Given the description of an element on the screen output the (x, y) to click on. 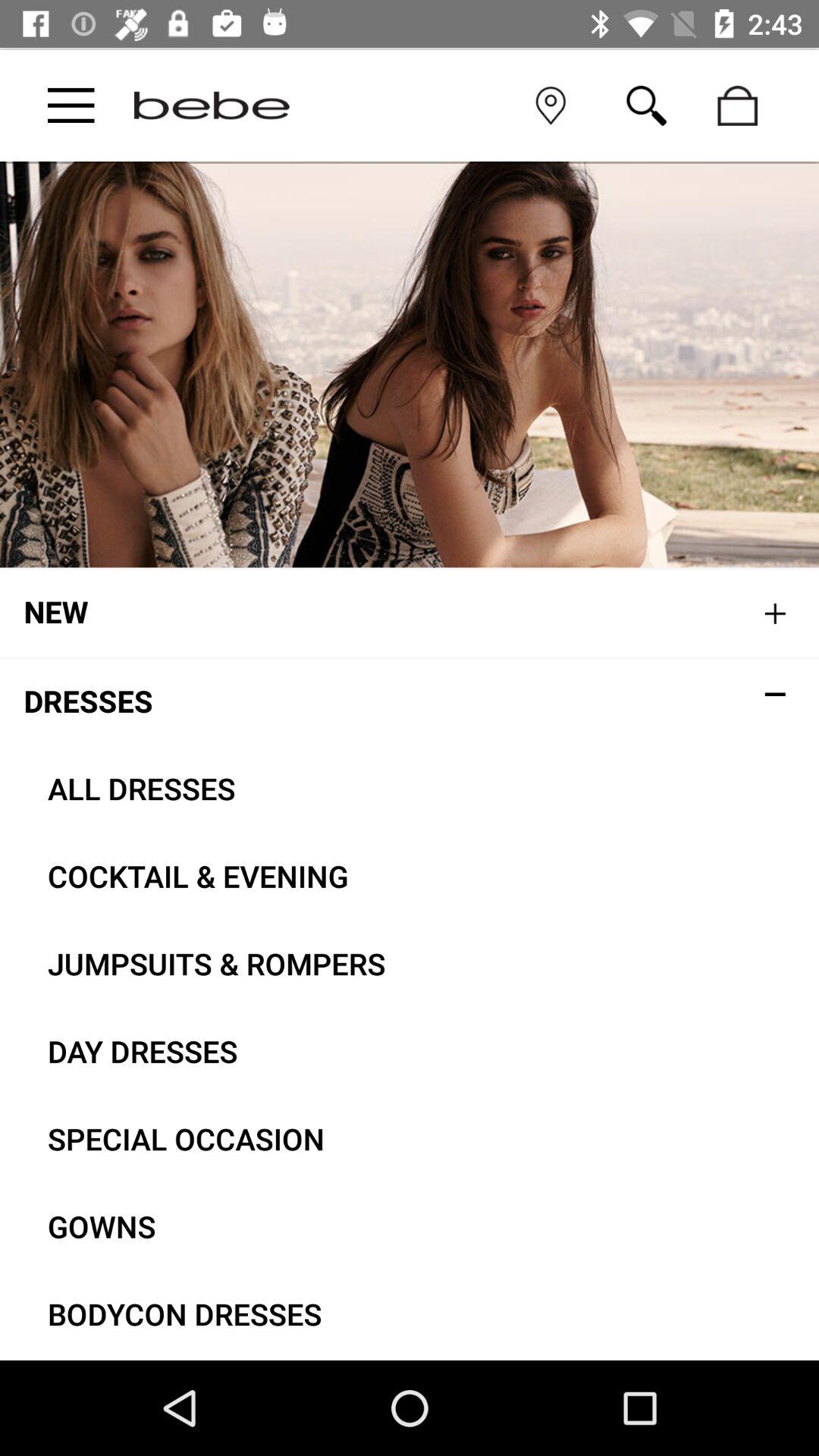
show options (70, 105)
